Given the description of an element on the screen output the (x, y) to click on. 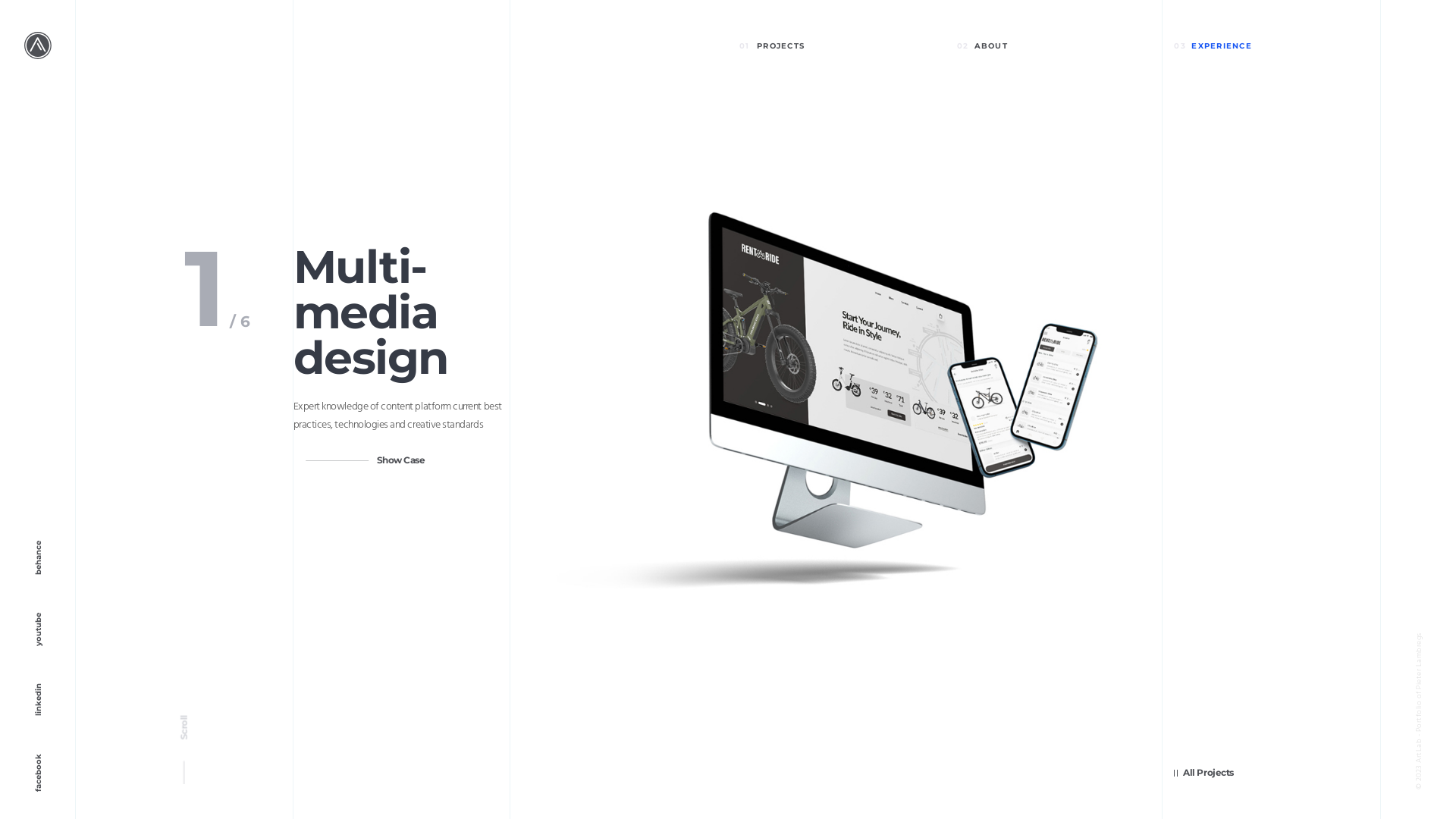
Multi-
media
design Element type: text (370, 311)
01
PROJECTS Element type: text (836, 55)
linkedin Element type: text (16, 721)
02
ABOUT Element type: text (1054, 55)
All Projects Element type: text (1203, 772)
Show Case Element type: text (401, 459)
youtube Element type: text (17, 650)
behance Element type: text (17, 578)
03
EXPERIENCE Element type: text (1270, 55)
